Given the description of an element on the screen output the (x, y) to click on. 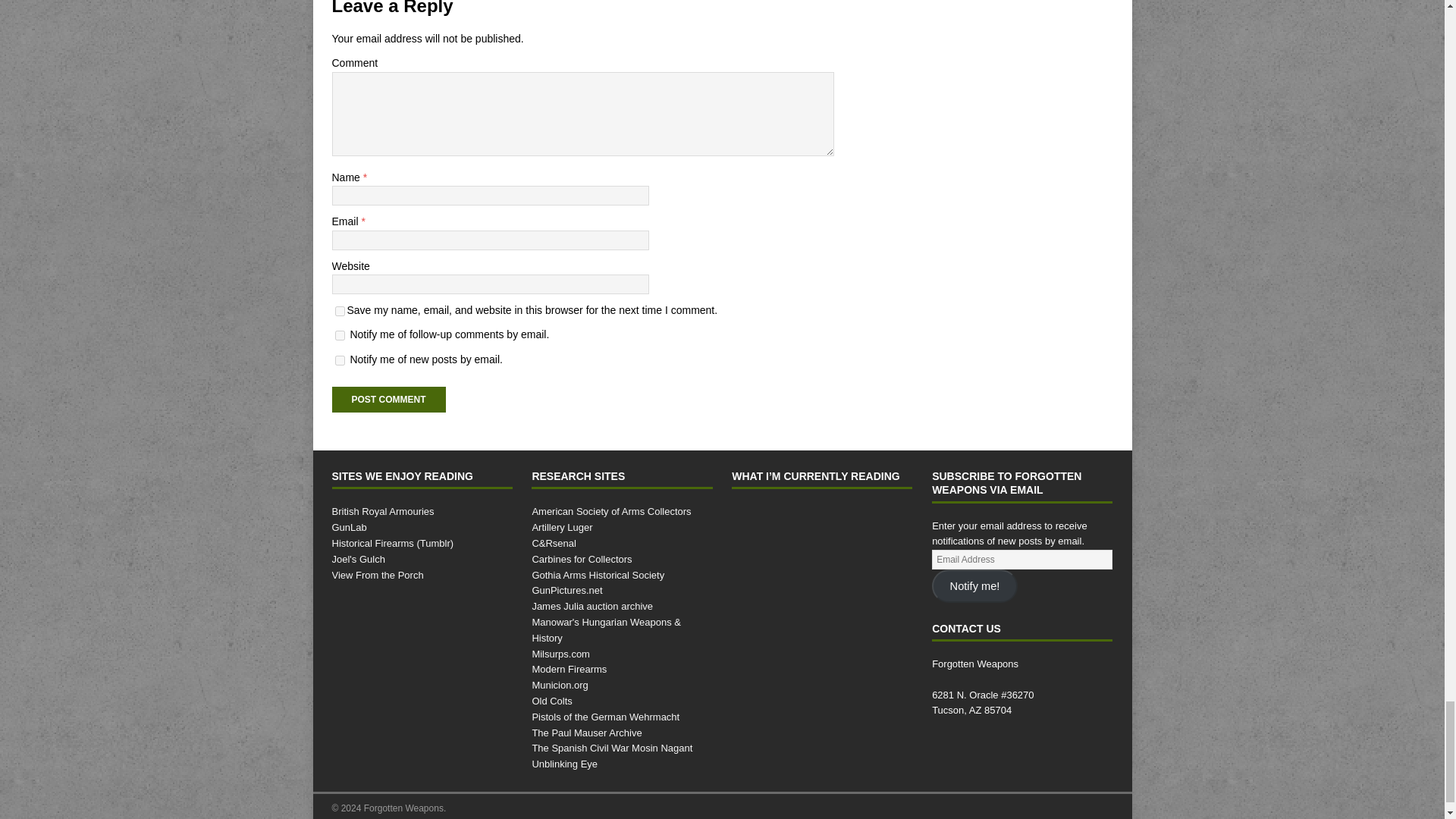
subscribe (339, 360)
Post Comment (388, 399)
subscribe (339, 335)
yes (339, 311)
